Given the description of an element on the screen output the (x, y) to click on. 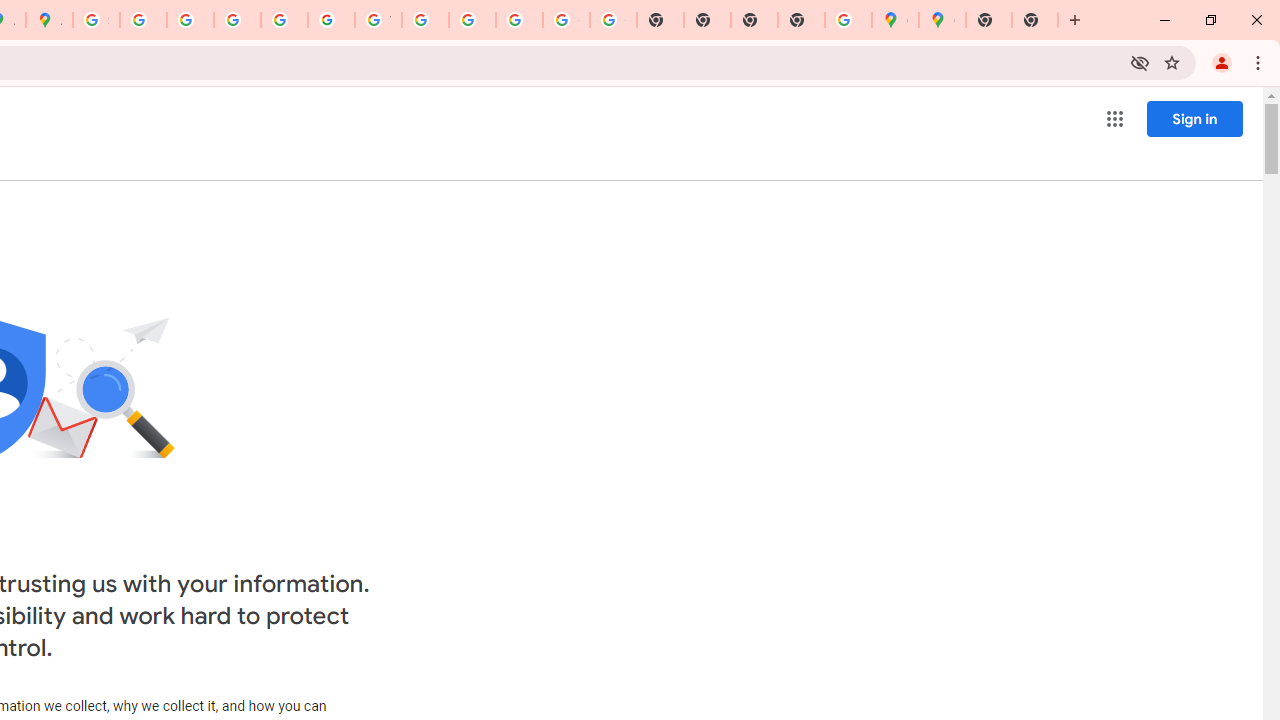
New Tab (801, 20)
Google Maps (895, 20)
Privacy Help Center - Policies Help (237, 20)
Google Maps (942, 20)
Privacy Help Center - Policies Help (189, 20)
